Given the description of an element on the screen output the (x, y) to click on. 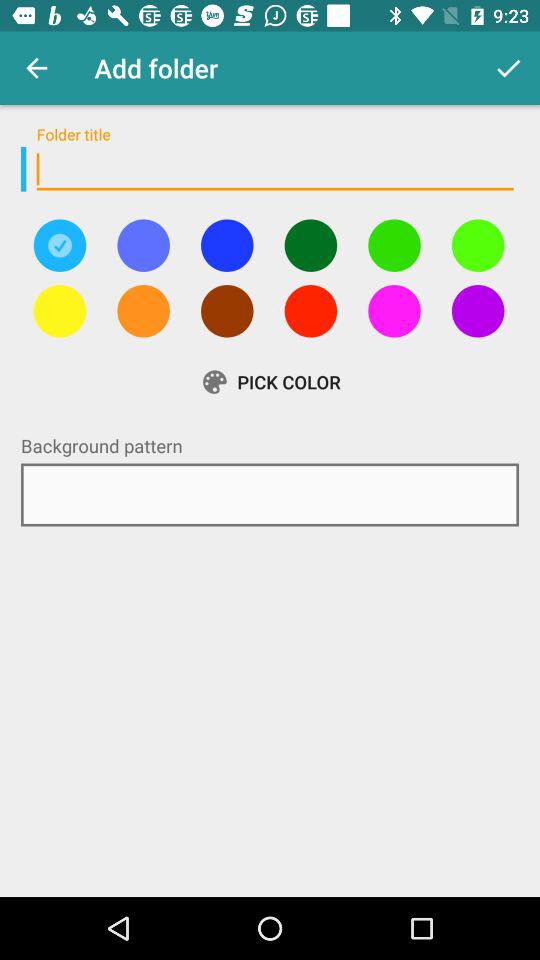
select the green colour option (310, 245)
